Given the description of an element on the screen output the (x, y) to click on. 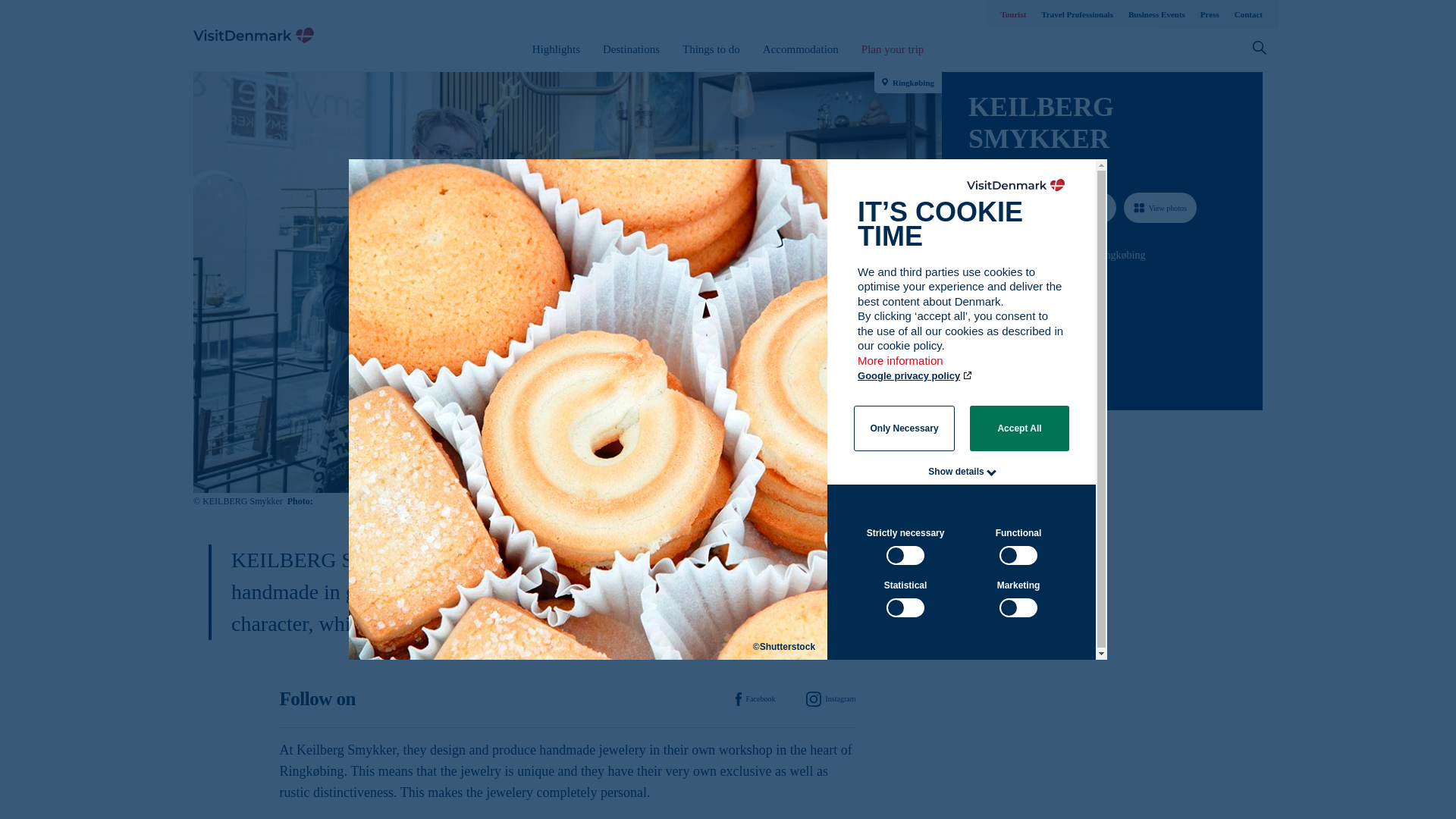
Path (973, 342)
More information (900, 367)
Google privacy policy (915, 375)
Show details (956, 471)
Only Necessary (904, 428)
Accept All (1018, 428)
